Given the description of an element on the screen output the (x, y) to click on. 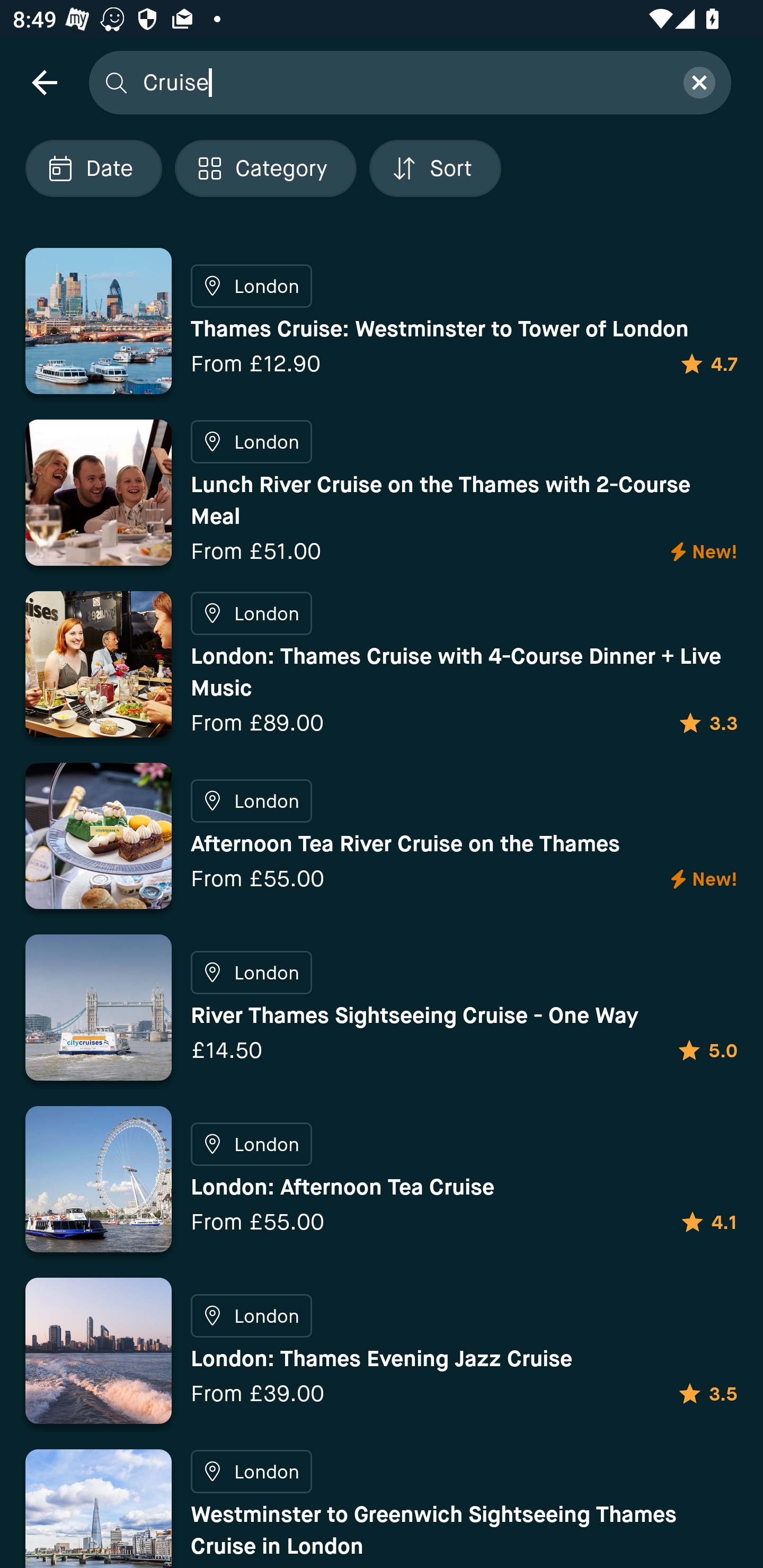
navigation icon (44, 81)
Cruise (402, 81)
Localized description Date (93, 168)
Localized description Category (265, 168)
Localized description Sort (435, 168)
